Given the description of an element on the screen output the (x, y) to click on. 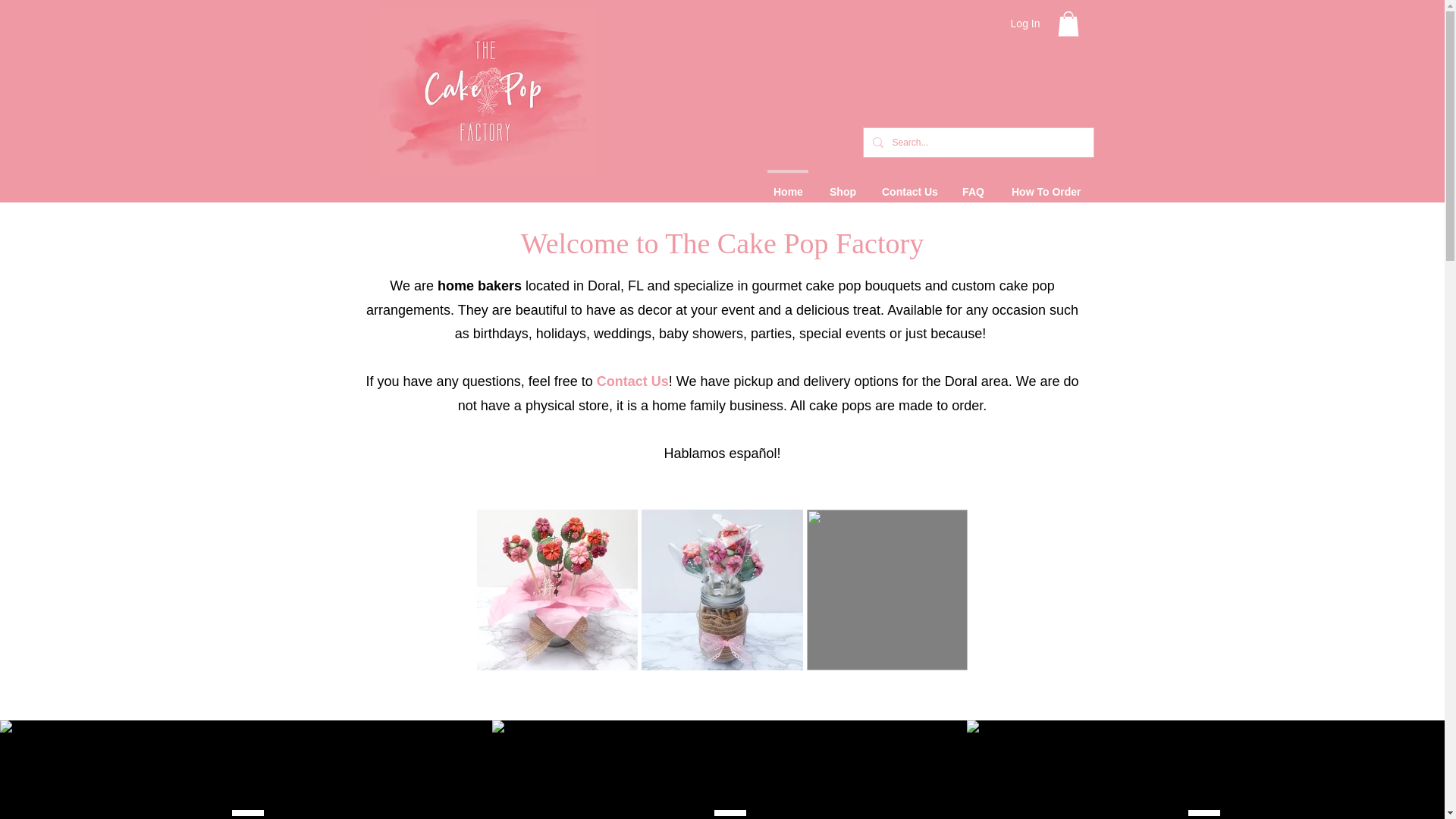
Log In (1025, 24)
How To Order (1045, 184)
Contact Us (908, 184)
Home (787, 184)
Contact Us (632, 381)
Shop (841, 184)
FAQ (973, 184)
